Given the description of an element on the screen output the (x, y) to click on. 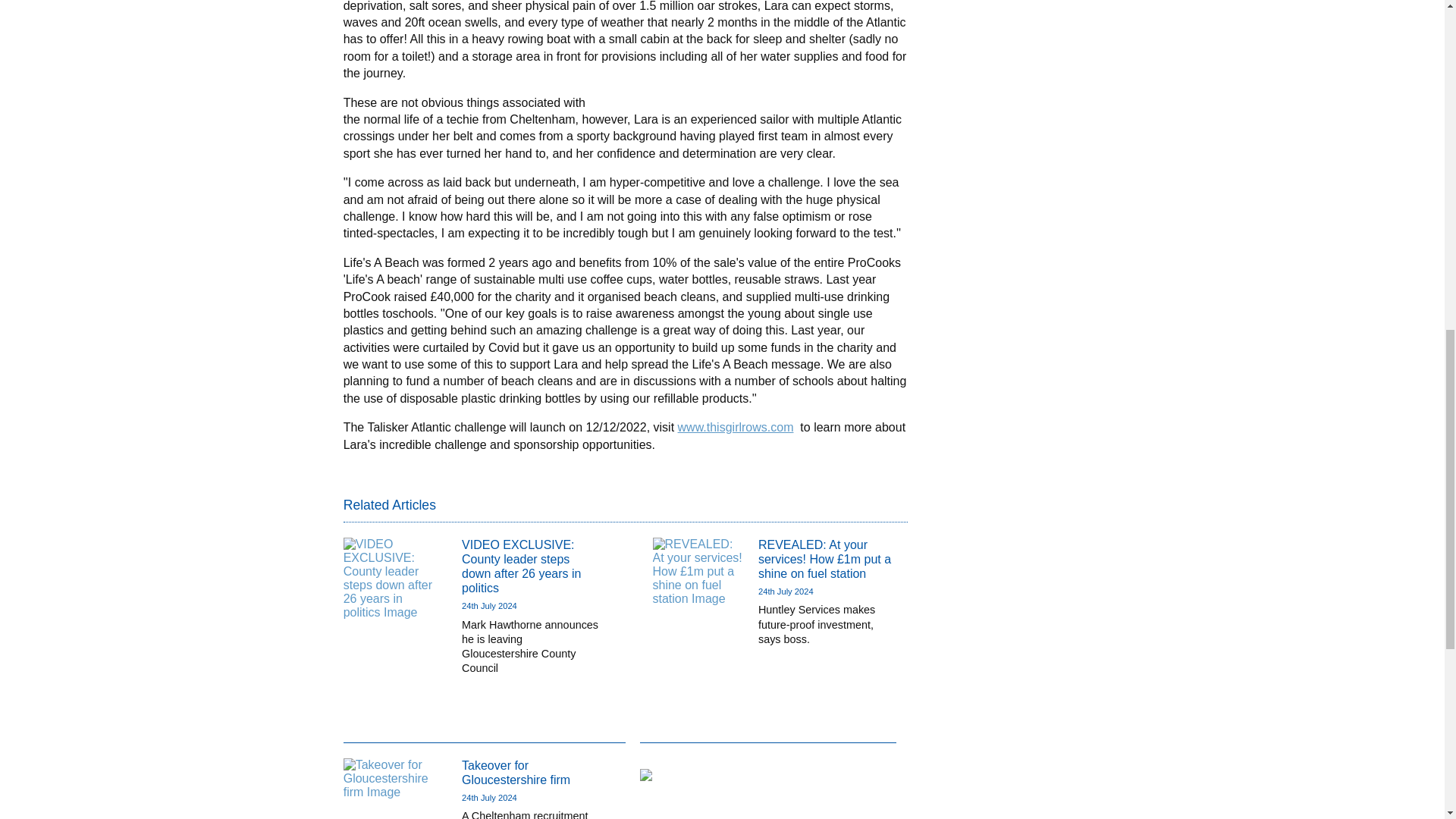
www.thisgirlrows.com (735, 427)
Takeover for Gloucestershire firm (515, 772)
Takeover for Gloucestershire firm (515, 772)
